Given the description of an element on the screen output the (x, y) to click on. 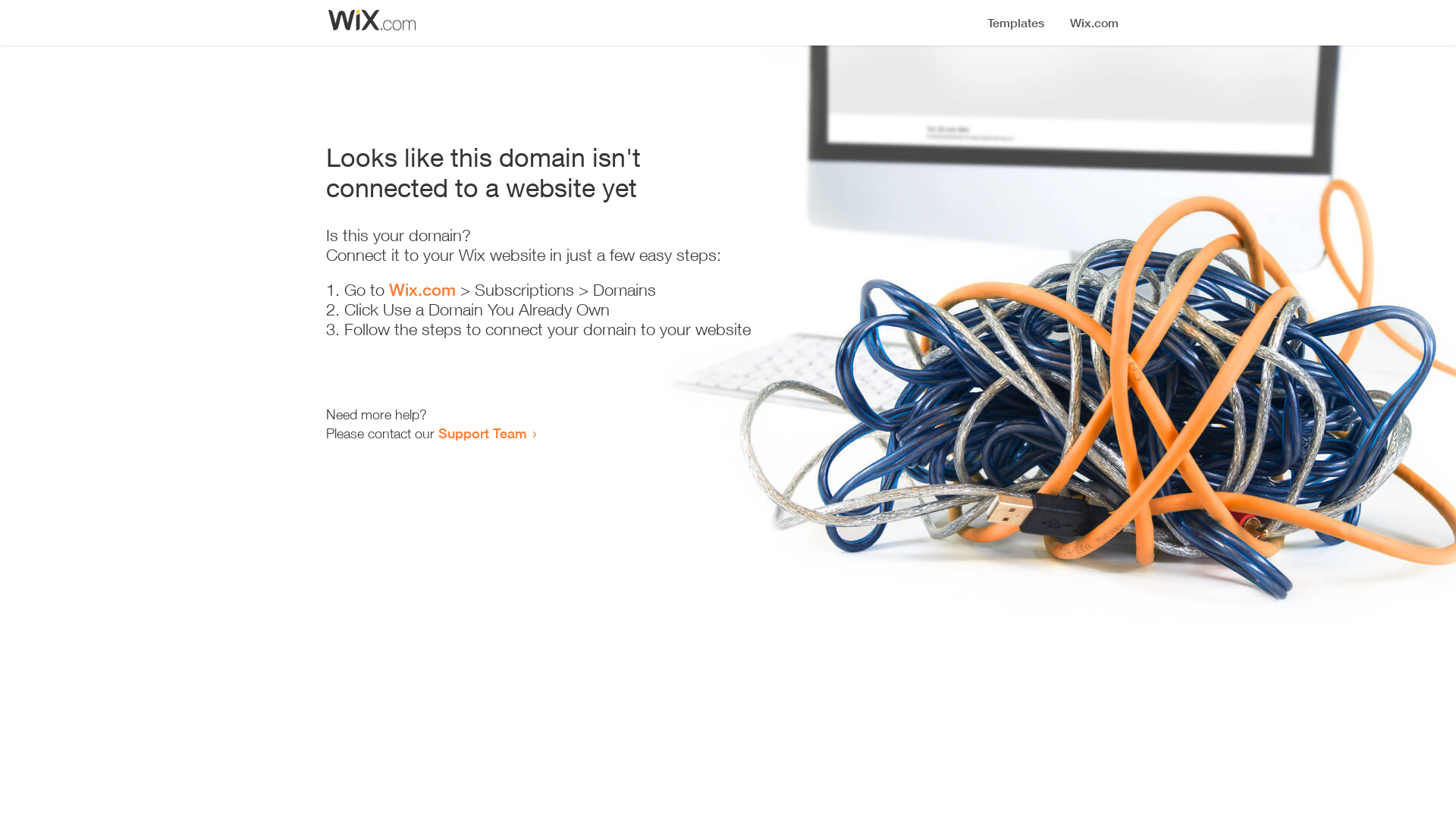
Support Team Element type: text (482, 432)
Wix.com Element type: text (422, 289)
